Given the description of an element on the screen output the (x, y) to click on. 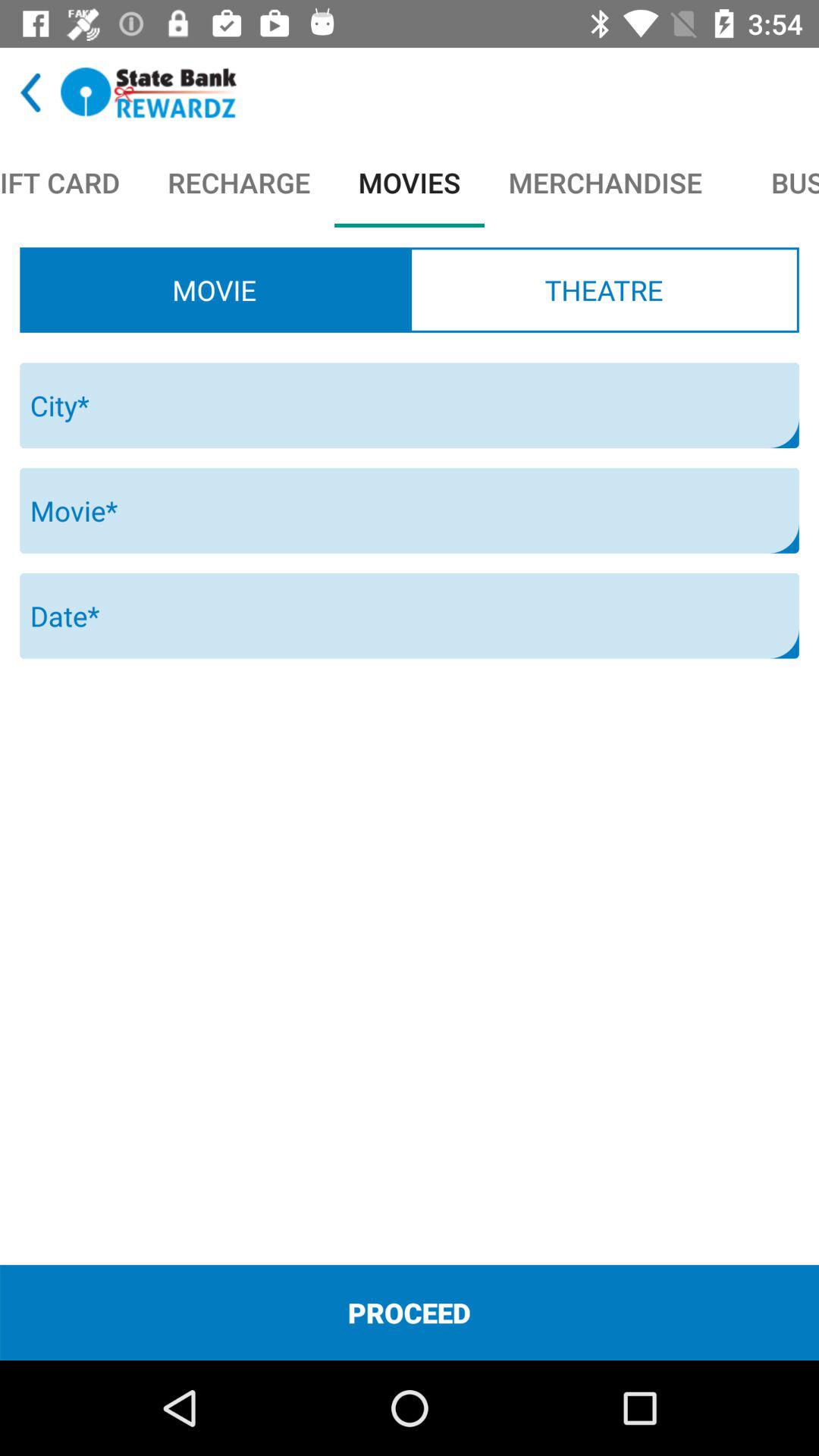
press item next to movie (604, 289)
